Given the description of an element on the screen output the (x, y) to click on. 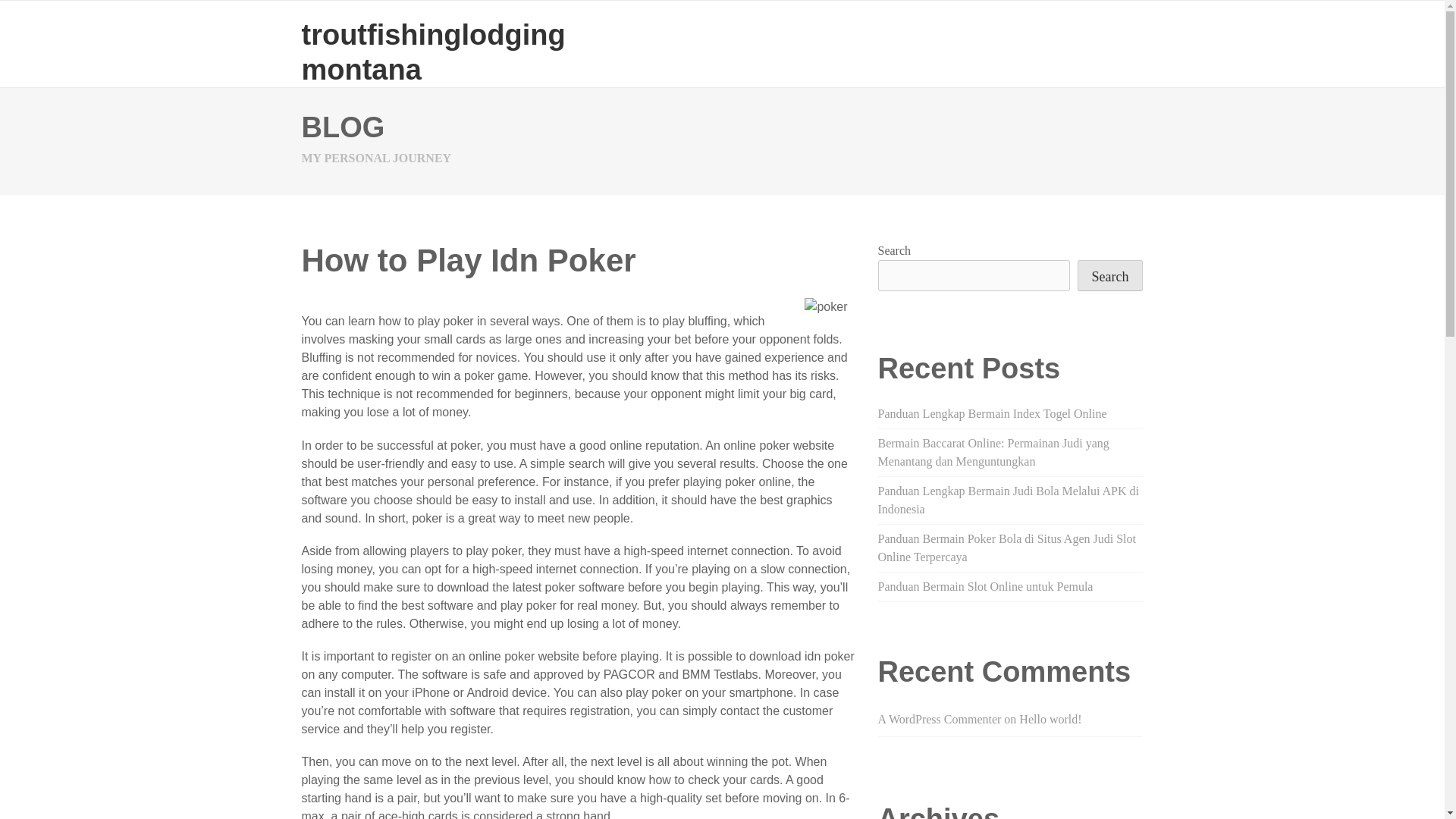
troutfishinglodgingmontana (433, 51)
Panduan Bermain Slot Online untuk Pemula (985, 585)
A WordPress Commenter (939, 718)
Panduan Lengkap Bermain Judi Bola Melalui APK di Indonesia (1007, 499)
Panduan Lengkap Bermain Index Togel Online (991, 413)
Hello world! (1050, 718)
Search (1109, 275)
